Given the description of an element on the screen output the (x, y) to click on. 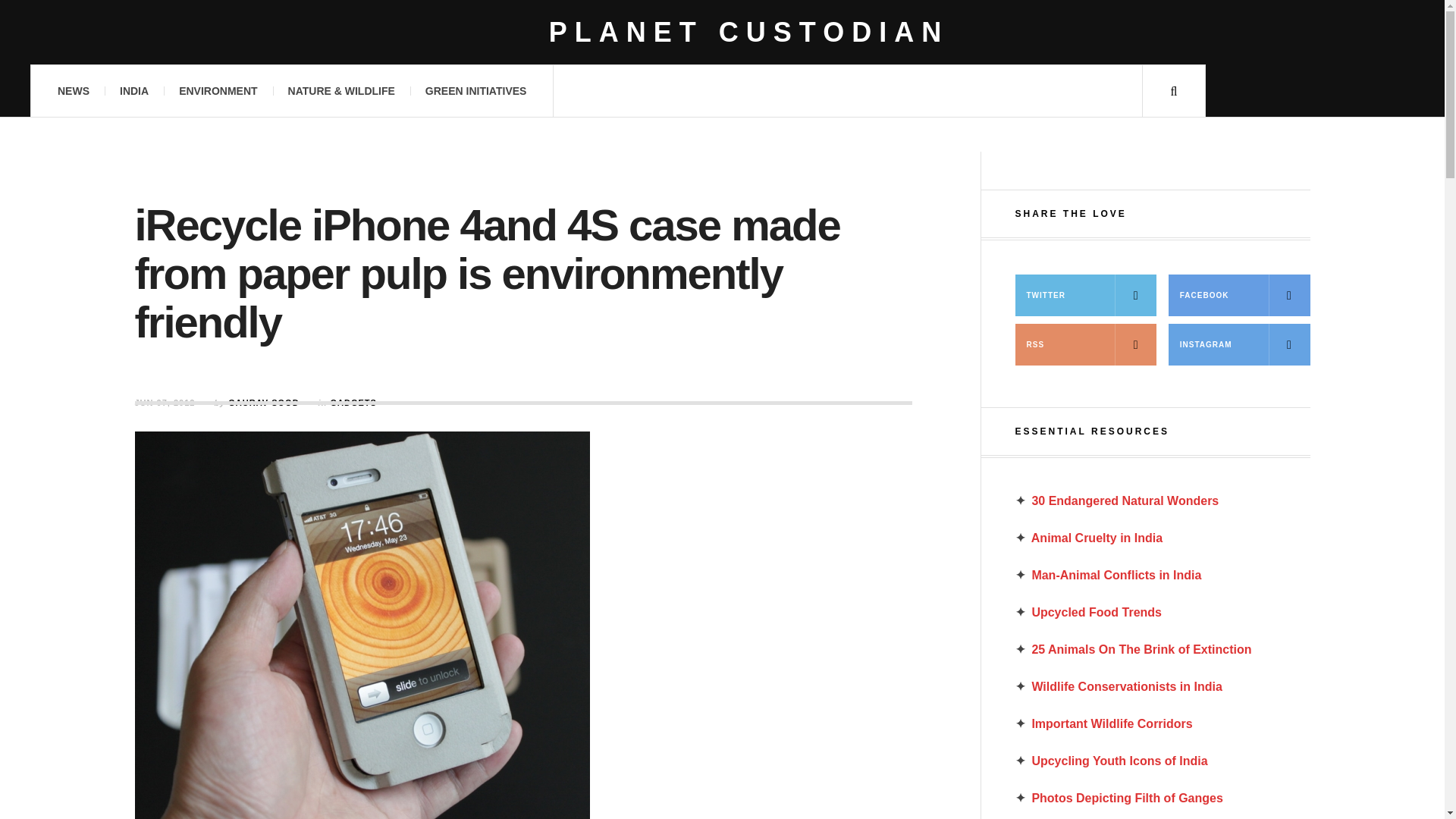
View all posts in Gadgets (352, 402)
PLANET CUSTODIAN (748, 32)
Planet Custodian (748, 32)
GADGETS (352, 402)
GREEN INITIATIVES (475, 91)
GAURAV SOOD (263, 402)
NEWS (73, 91)
ENVIRONMENT (217, 91)
INDIA (133, 91)
